Given the description of an element on the screen output the (x, y) to click on. 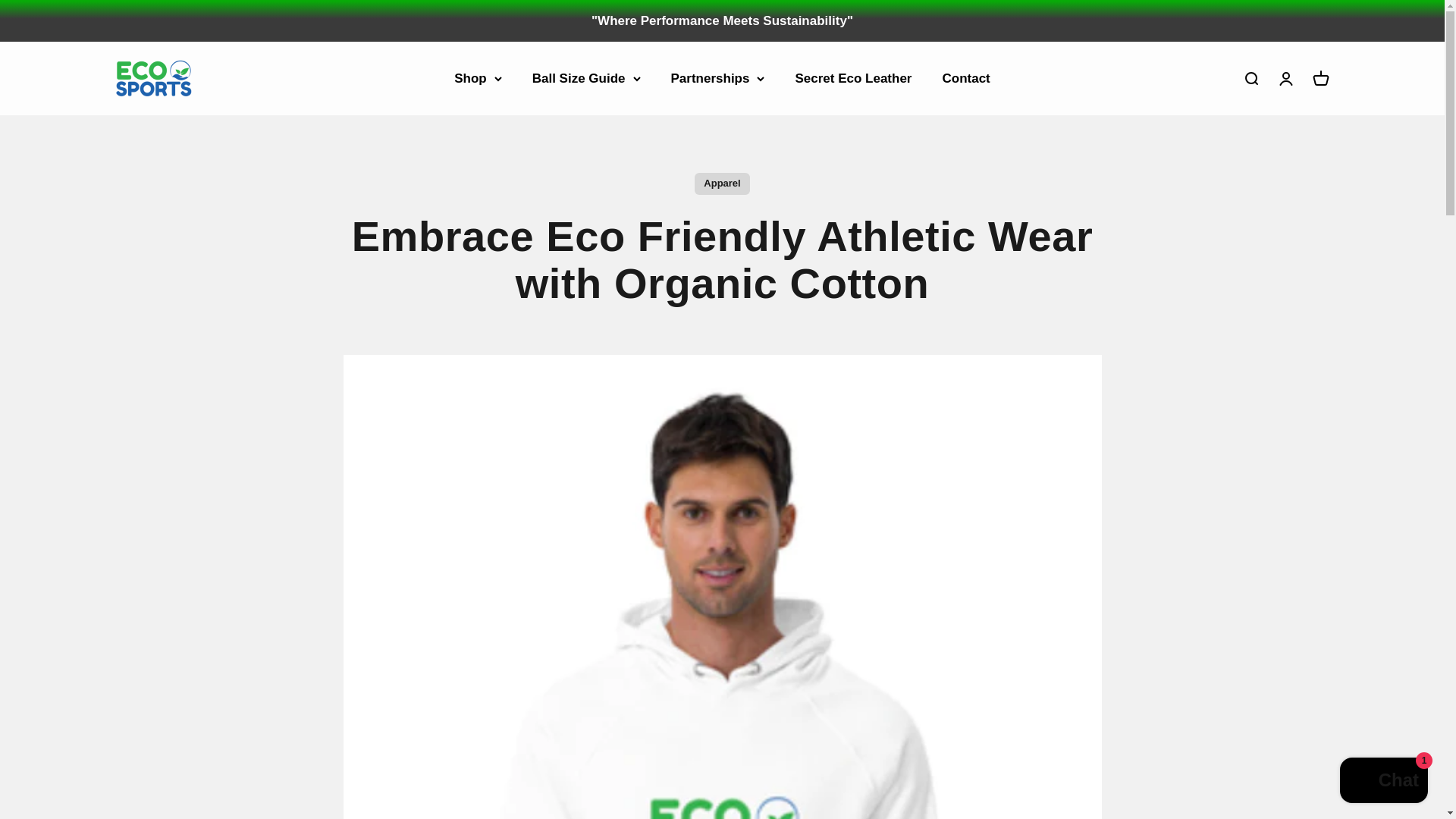
Secret Eco Leather (852, 78)
Contact (966, 78)
Open search (1250, 78)
Open account page (1319, 78)
Shopify online store chat (1285, 78)
"Where Performance Meets Sustainability" (1383, 781)
Eco Sports (722, 20)
